Given the description of an element on the screen output the (x, y) to click on. 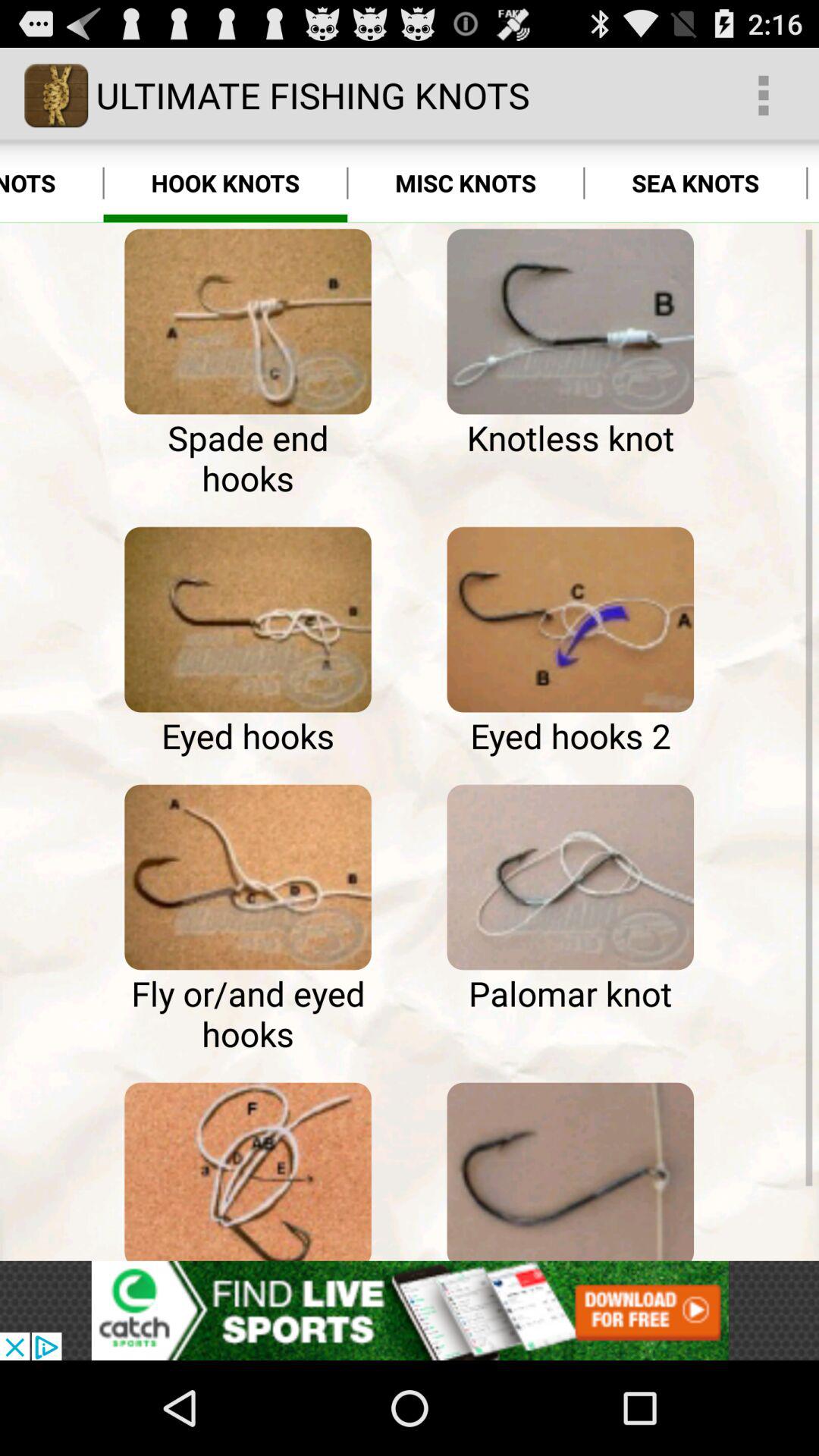
picture pages (247, 876)
